Given the description of an element on the screen output the (x, y) to click on. 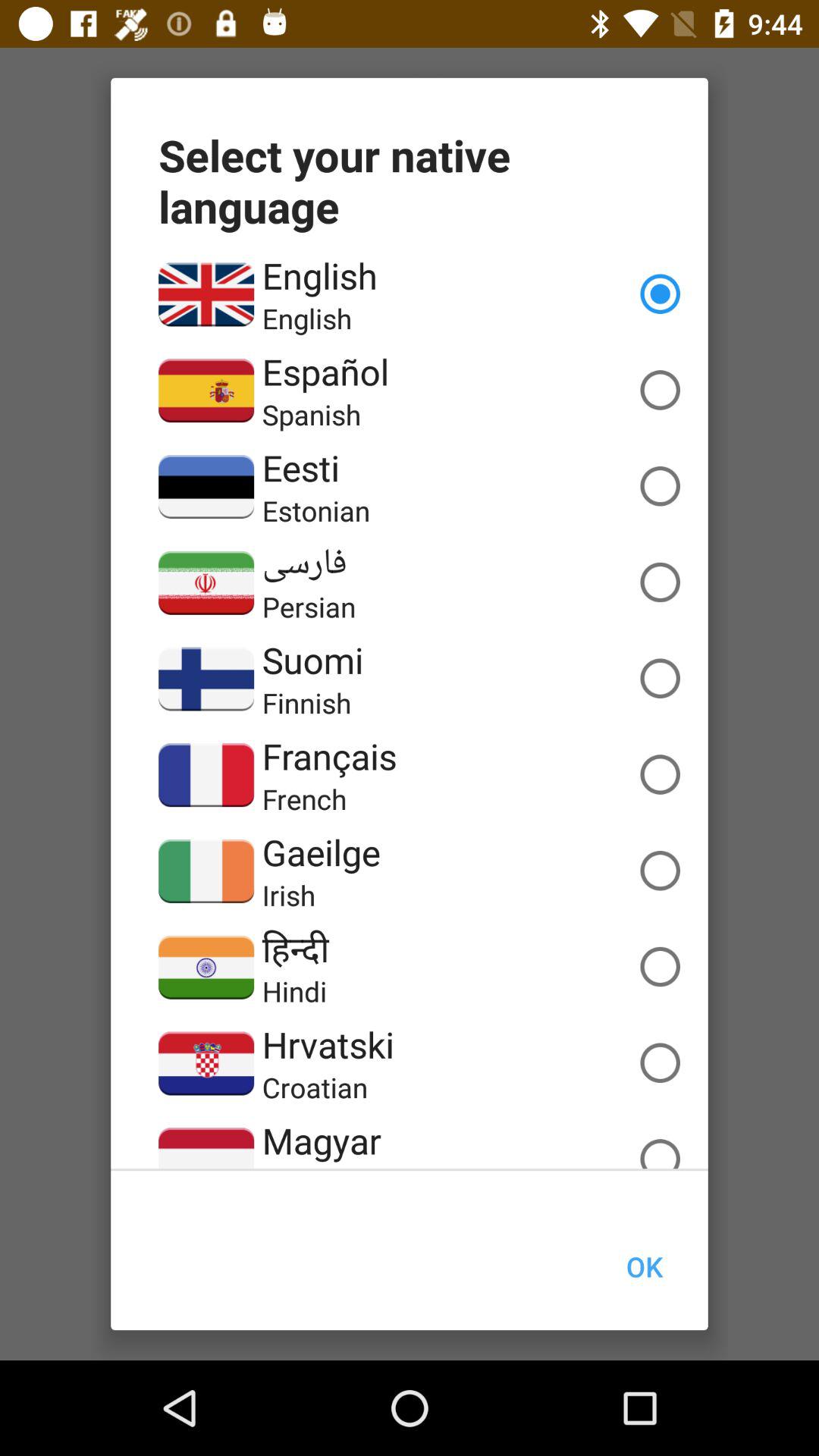
tap the item above the croatian item (328, 1044)
